Given the description of an element on the screen output the (x, y) to click on. 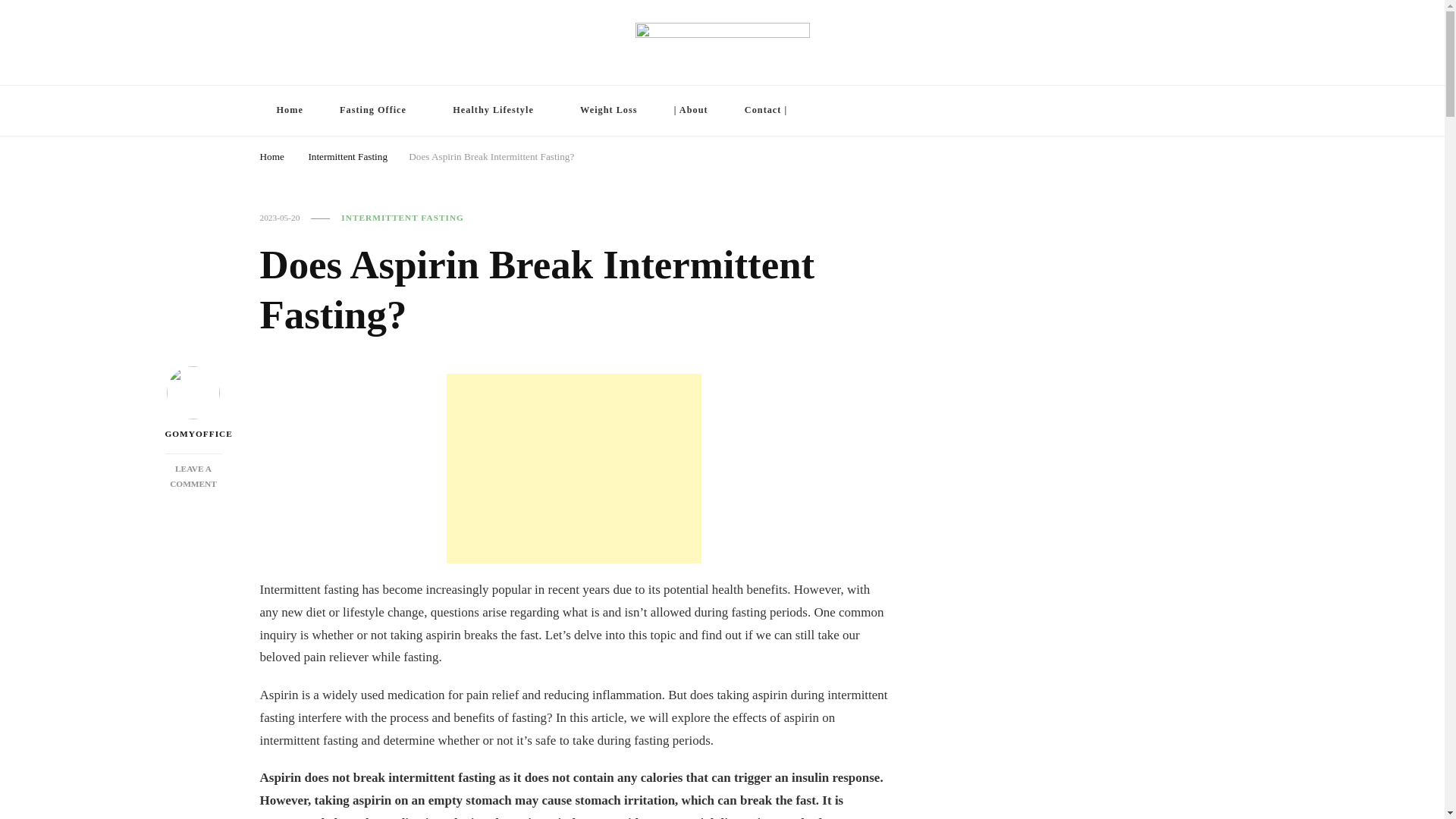
Search (193, 476)
GOMYOFFICE (1148, 112)
Intermittent Fasting (193, 404)
INTERMITTENT FASTING (347, 154)
Weight Loss (402, 217)
Home (608, 110)
Fasting Office (288, 110)
Home (377, 110)
Healthy Lifestyle (271, 154)
2023-05-20 (497, 110)
Does Aspirin Break Intermittent Fasting? (279, 217)
